Given the description of an element on the screen output the (x, y) to click on. 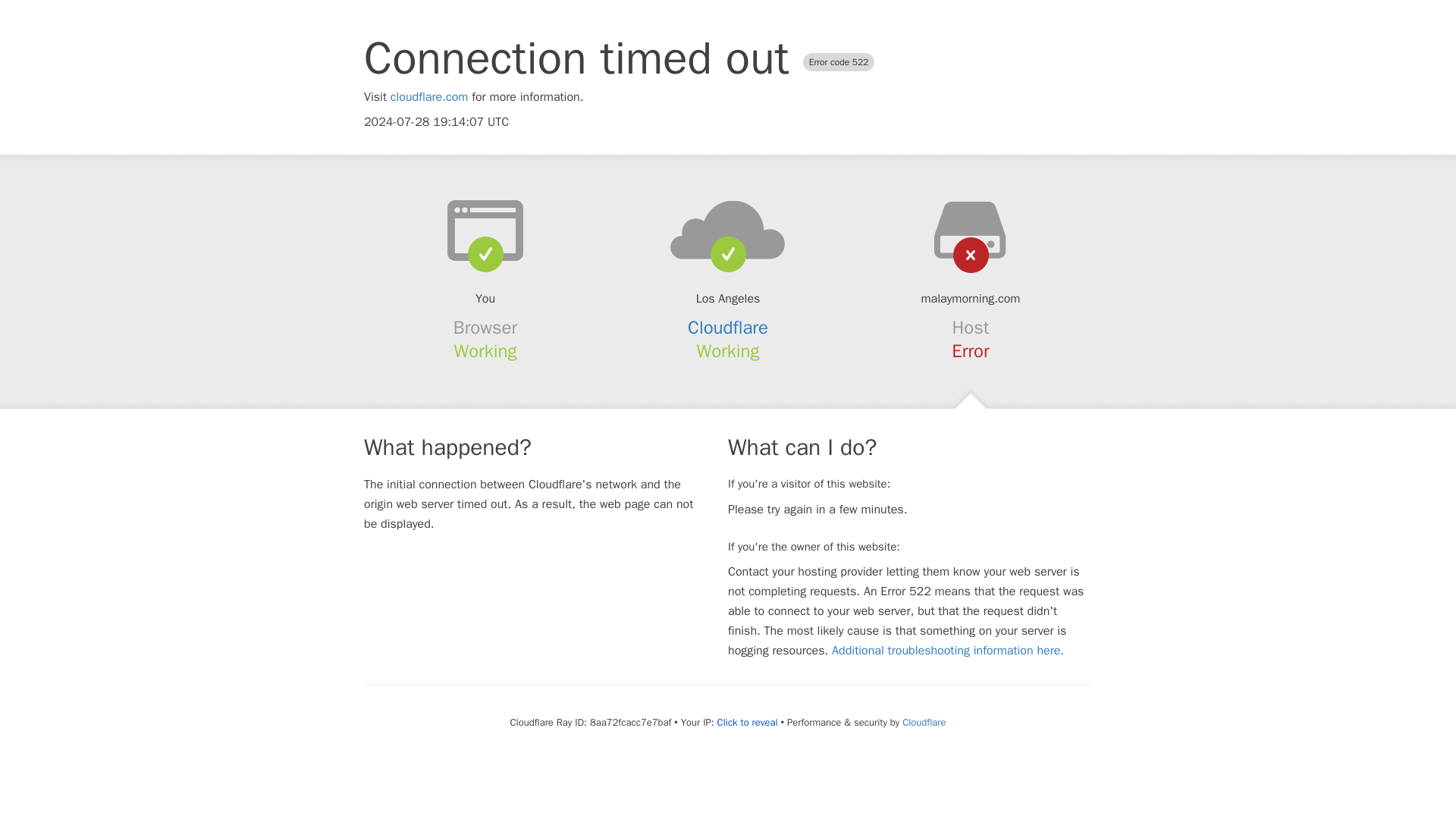
cloudflare.com (429, 96)
Click to reveal (747, 722)
Additional troubleshooting information here. (947, 650)
Cloudflare (923, 721)
Cloudflare (727, 327)
